Given the description of an element on the screen output the (x, y) to click on. 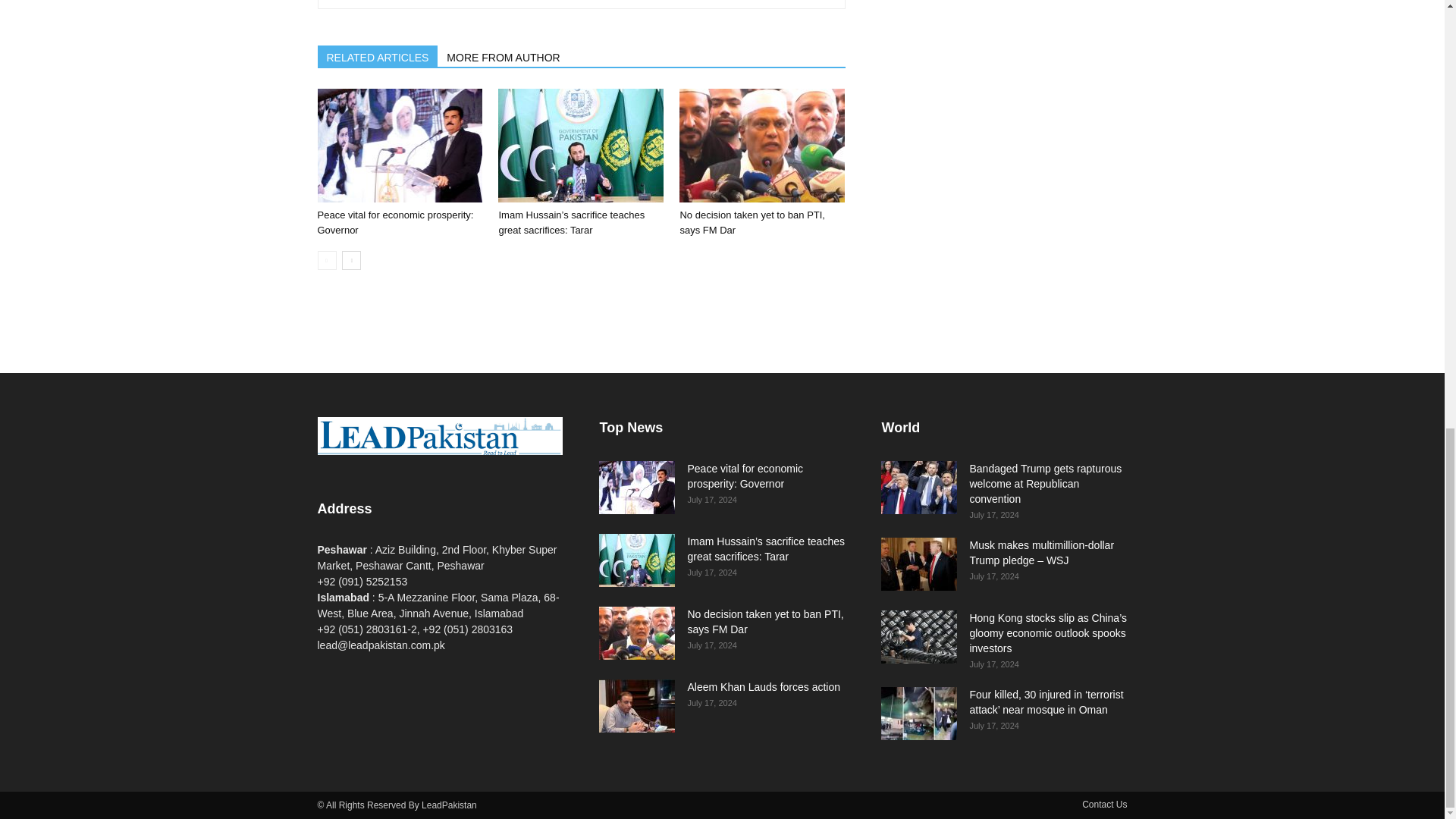
Peace vital for economic prosperity: Governor (395, 222)
Peace vital for economic prosperity: Governor (399, 145)
